Given the description of an element on the screen output the (x, y) to click on. 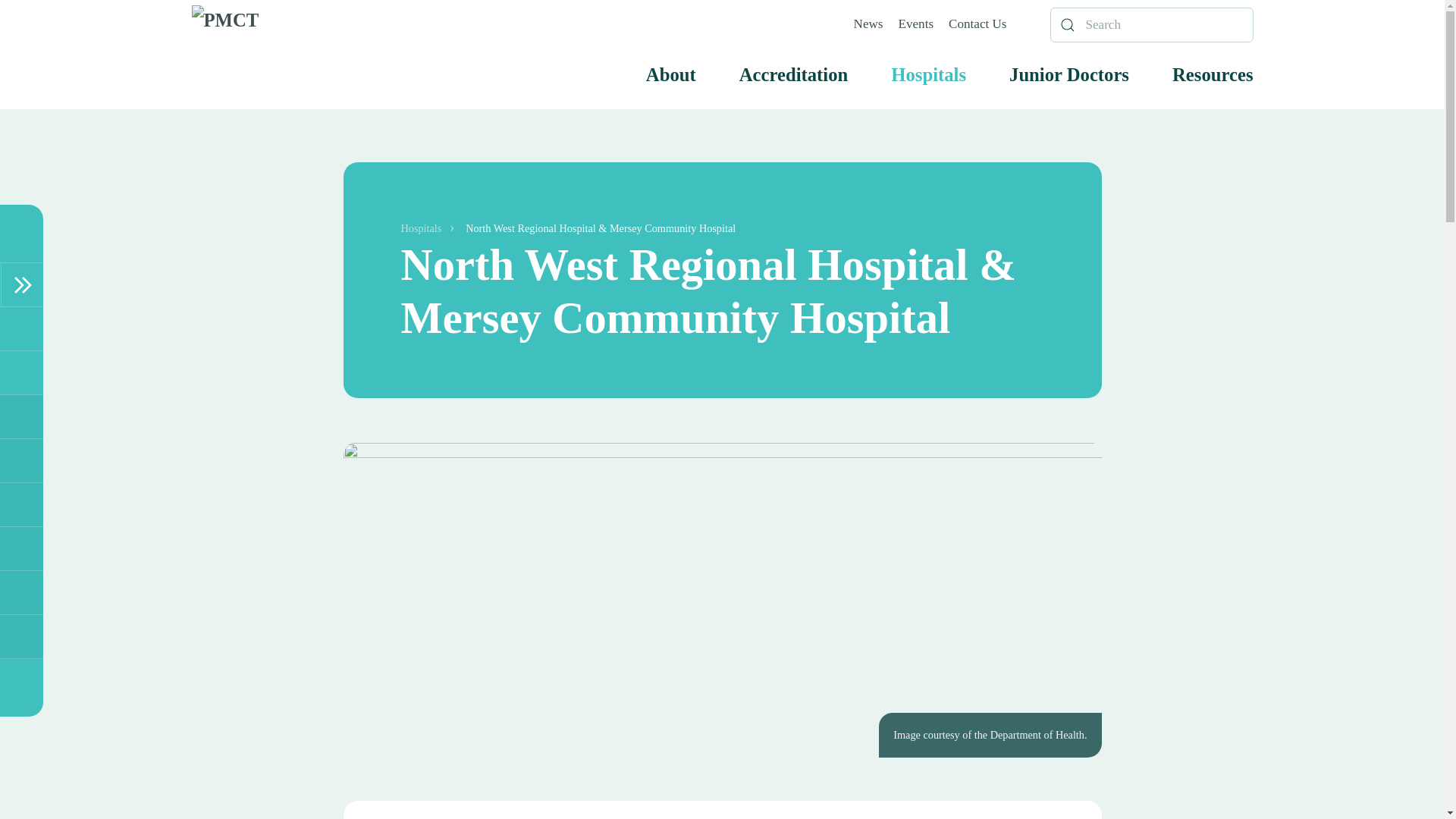
News (868, 24)
Contact Us (977, 24)
Events (916, 24)
Toggle Sidebar (22, 284)
About (670, 75)
